Given the description of an element on the screen output the (x, y) to click on. 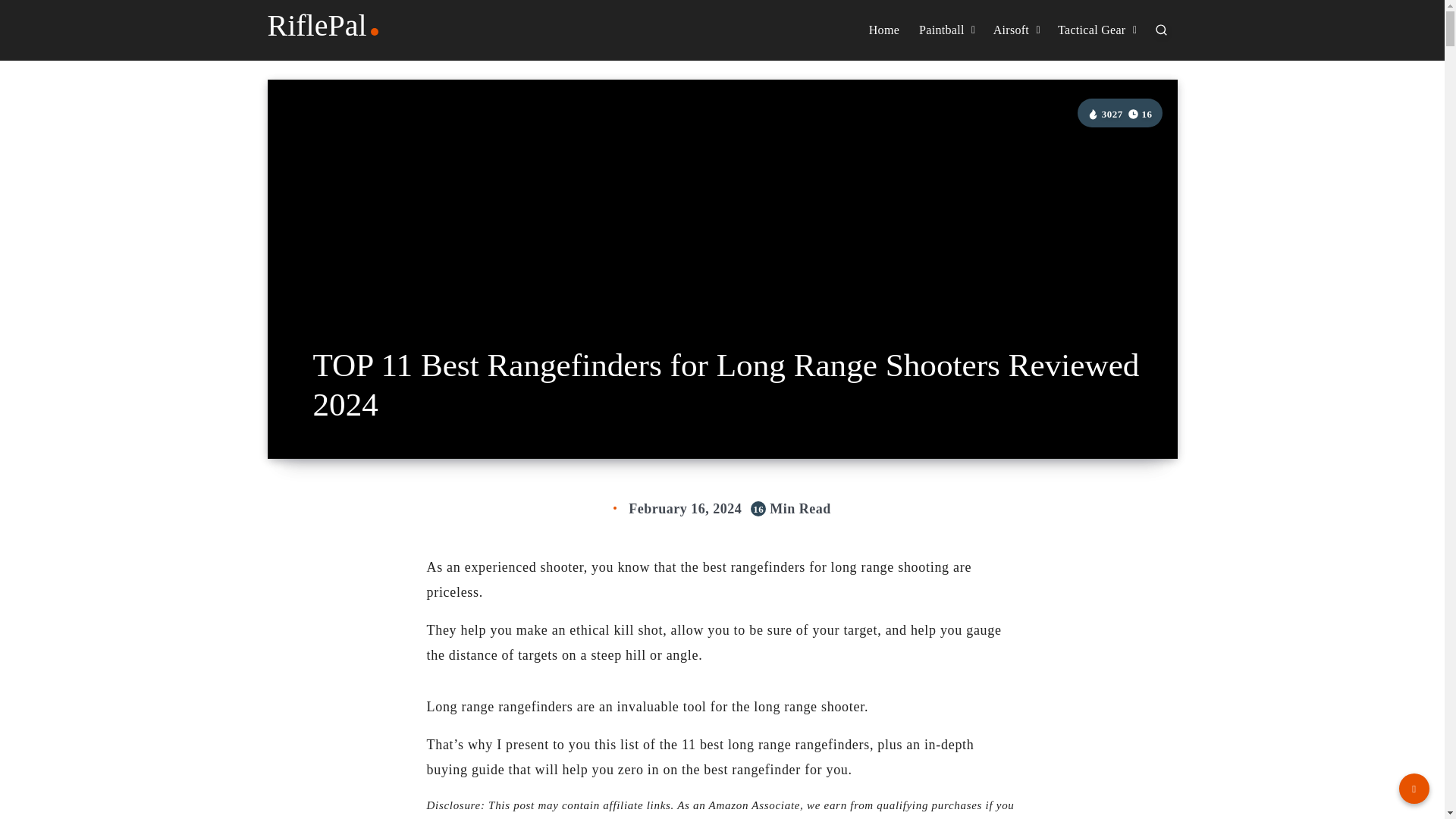
Tactical Gear (1091, 29)
16 Min Read (1139, 113)
Home (884, 29)
Airsoft (1010, 29)
3027 Views (1104, 113)
Paintball (940, 29)
RiflePal (323, 25)
